Given the description of an element on the screen output the (x, y) to click on. 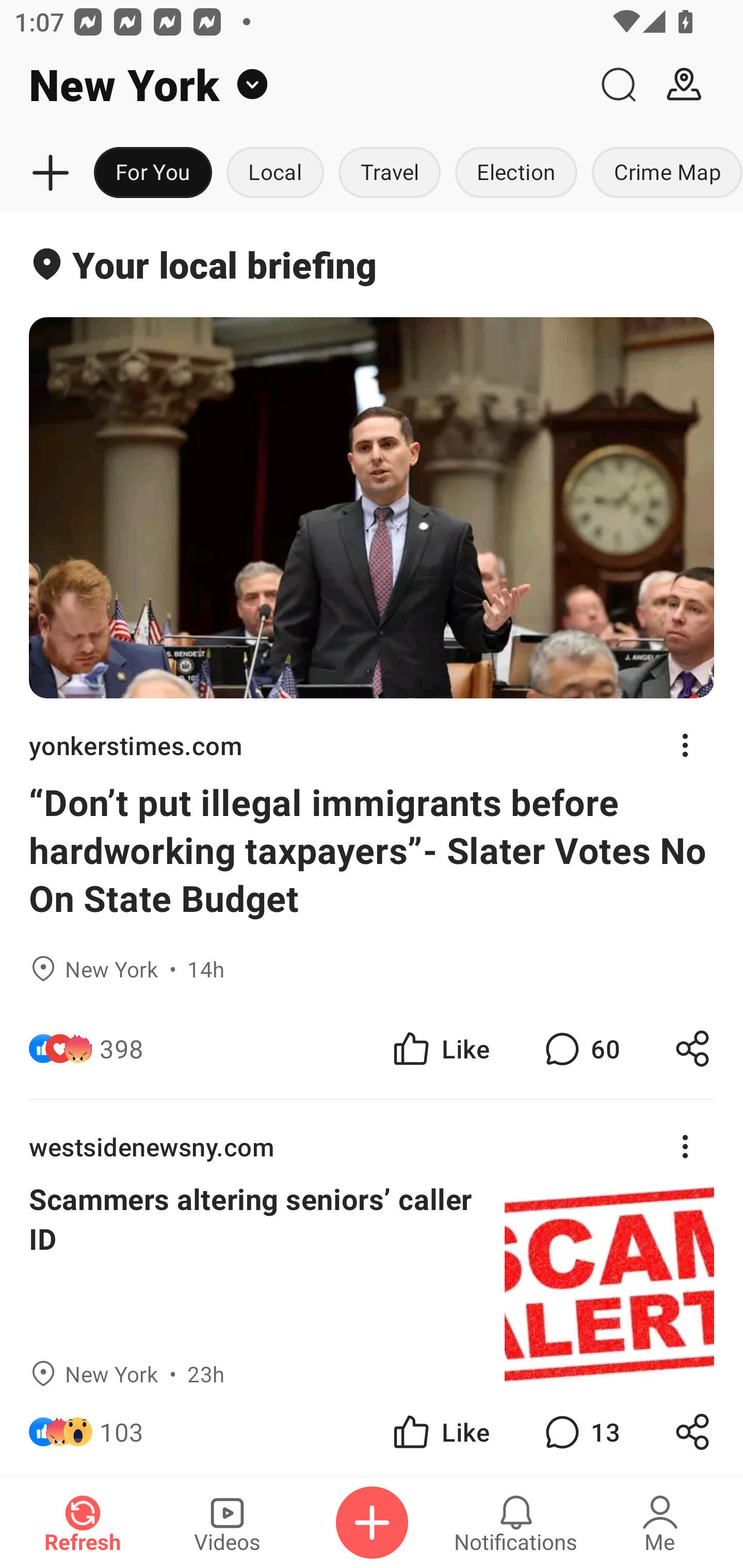
New York (292, 84)
For You (152, 172)
Local (275, 172)
Travel (389, 172)
Election (516, 172)
Crime Map (663, 172)
398 (121, 1048)
Like (439, 1048)
60 (579, 1048)
103 (121, 1432)
Like (439, 1432)
13 (579, 1432)
Videos (227, 1522)
Notifications (516, 1522)
Me (659, 1522)
